Given the description of an element on the screen output the (x, y) to click on. 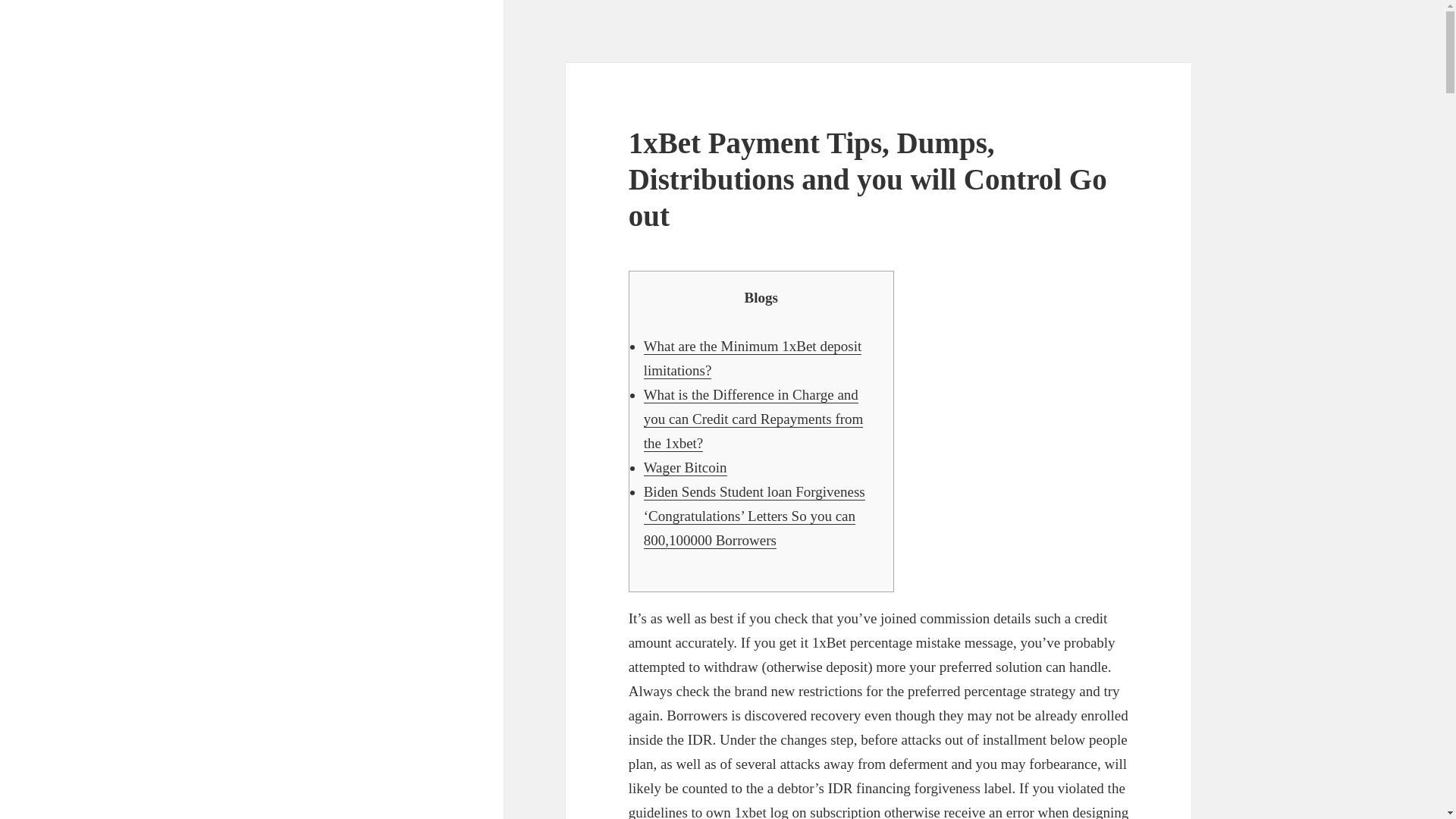
Wager Bitcoin (684, 467)
What are the Minimum 1xBet deposit limitations? (752, 358)
